Given the description of an element on the screen output the (x, y) to click on. 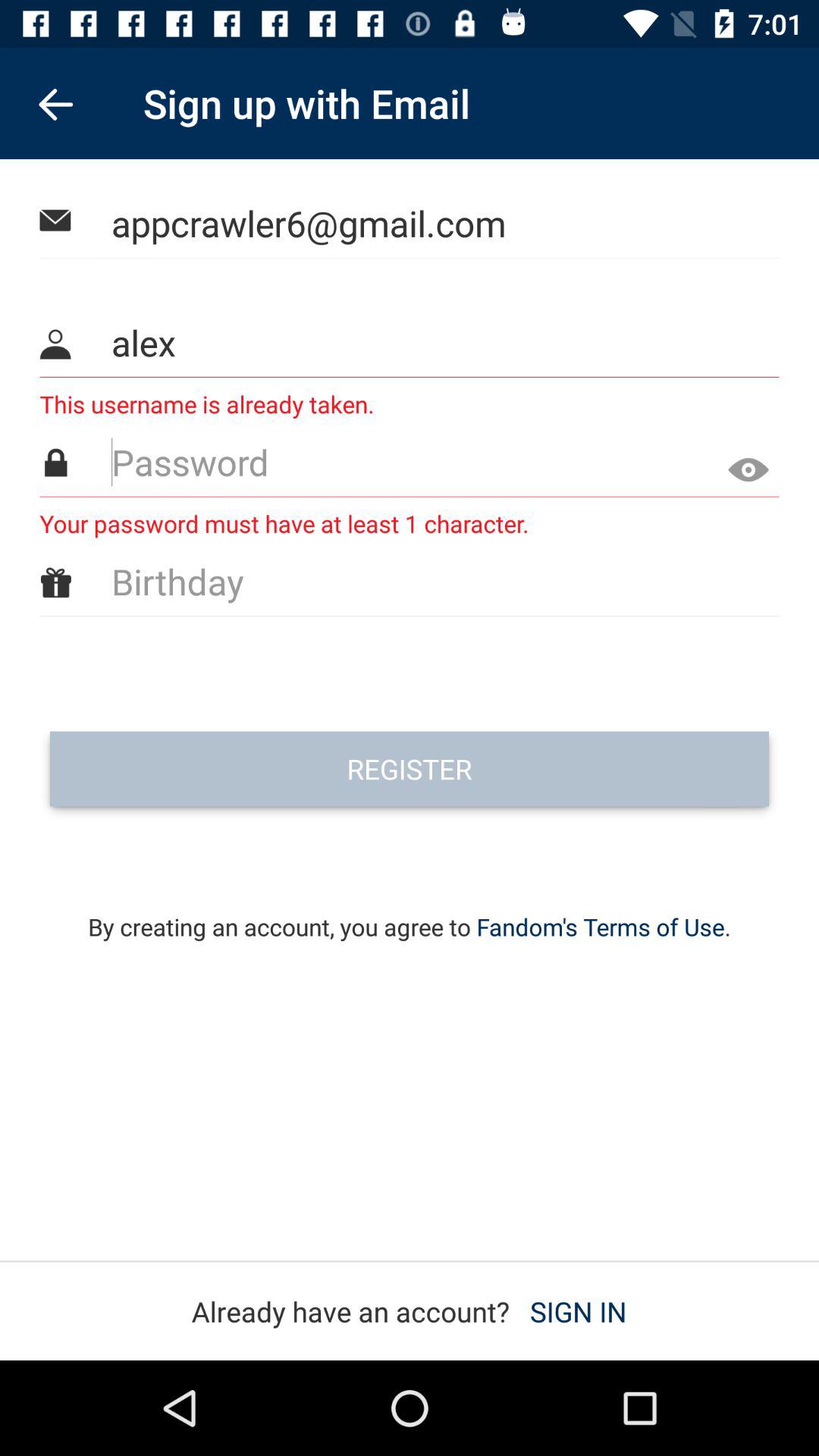
turn off icon next to sign up with item (55, 103)
